Given the description of an element on the screen output the (x, y) to click on. 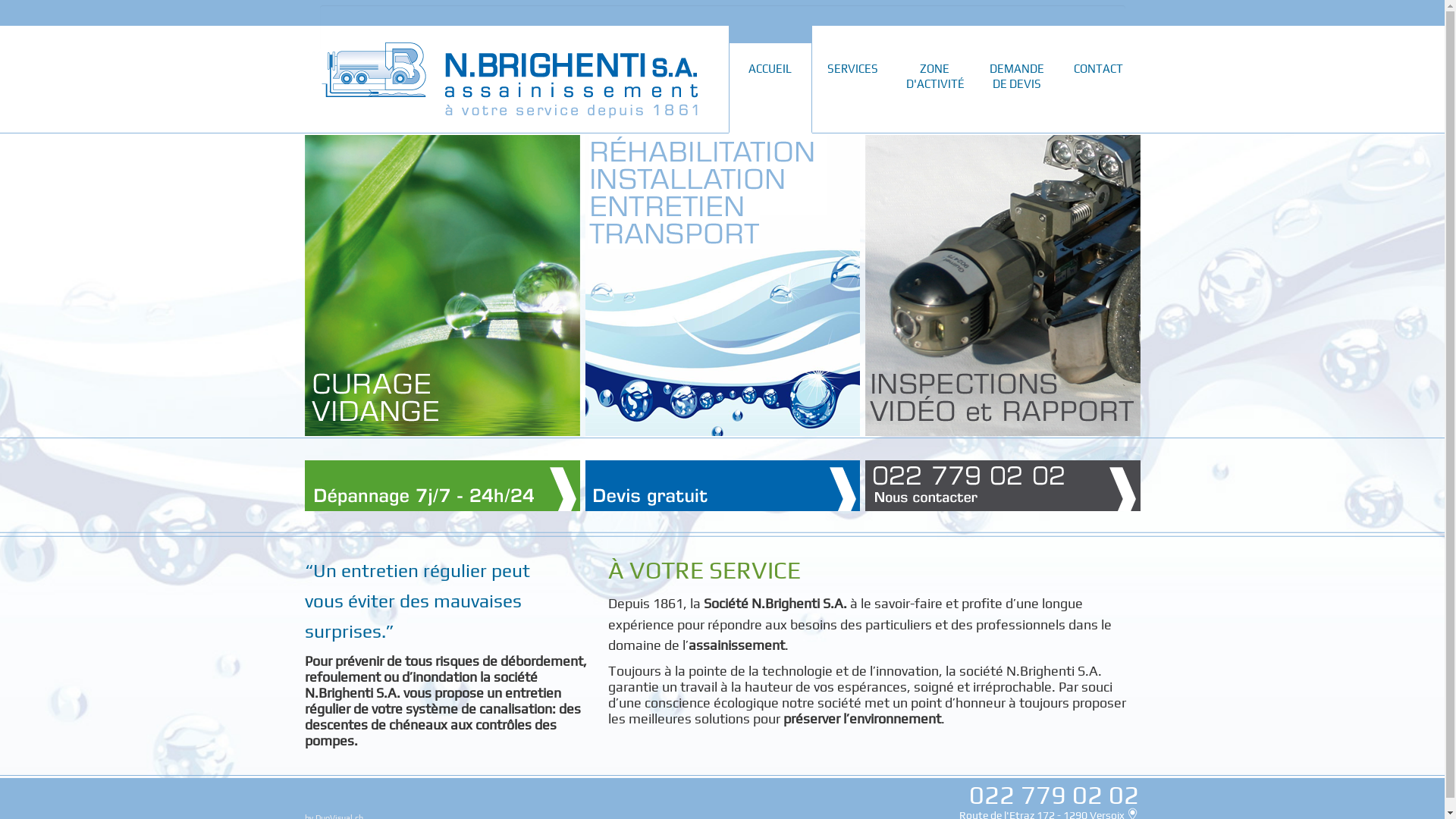
DEMANDE DE DEVIS Element type: text (1016, 92)
Nous contacter Element type: text (1001, 485)
Accueil Element type: hover (509, 80)
Devis gratuit Element type: text (722, 485)
CONTACT Element type: text (1098, 92)
SERVICES Element type: text (852, 92)
ACCUEIL Element type: text (770, 92)
Depannage Element type: text (441, 485)
